Given the description of an element on the screen output the (x, y) to click on. 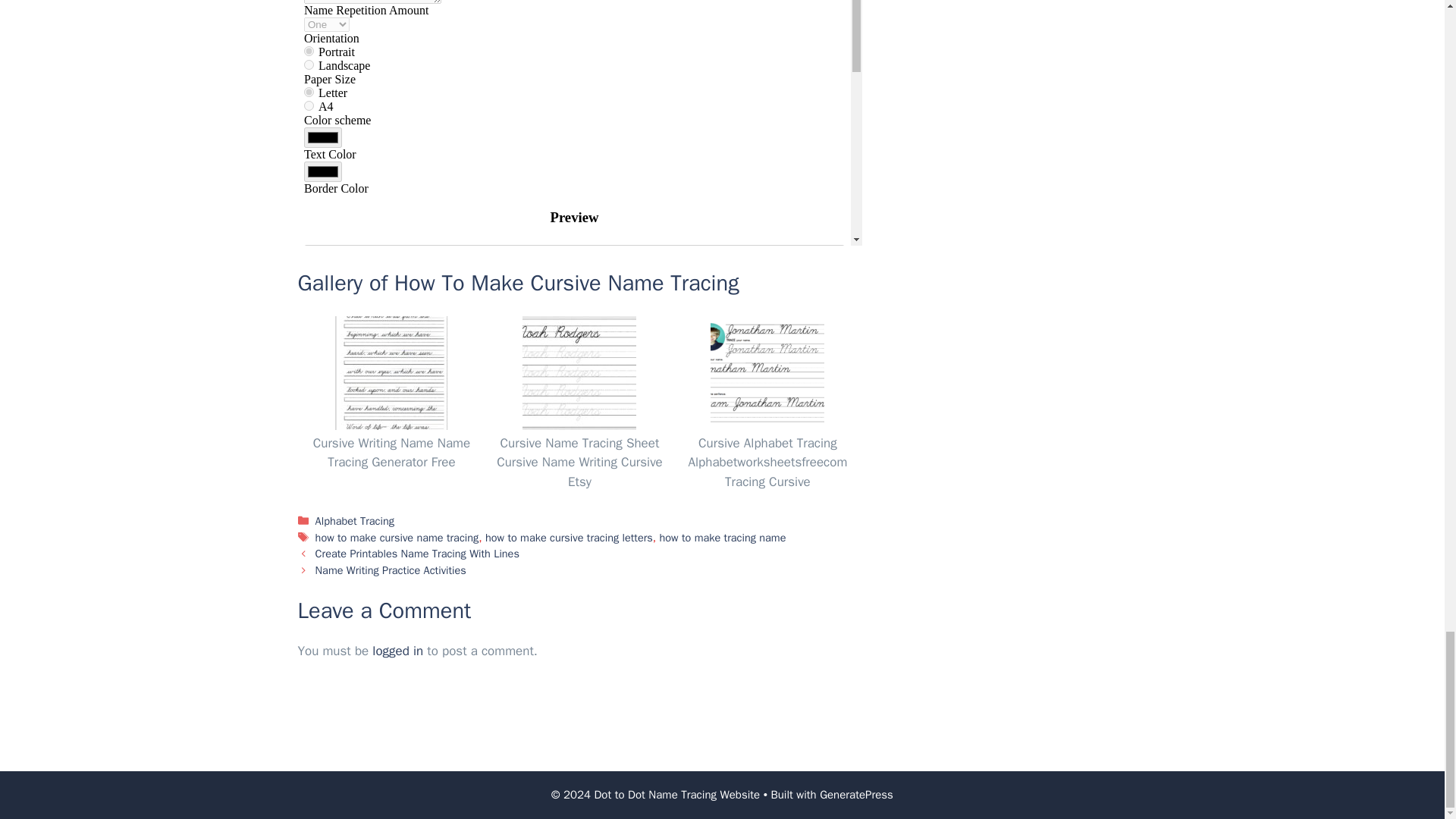
Create Printables Name Tracing With Lines (417, 553)
how to make cursive name tracing (397, 537)
logged in (397, 650)
how to make tracing name (722, 537)
Name Writing Practice Activities (390, 570)
how to make cursive tracing letters (568, 537)
GeneratePress (856, 794)
Alphabet Tracing (354, 520)
